Given the description of an element on the screen output the (x, y) to click on. 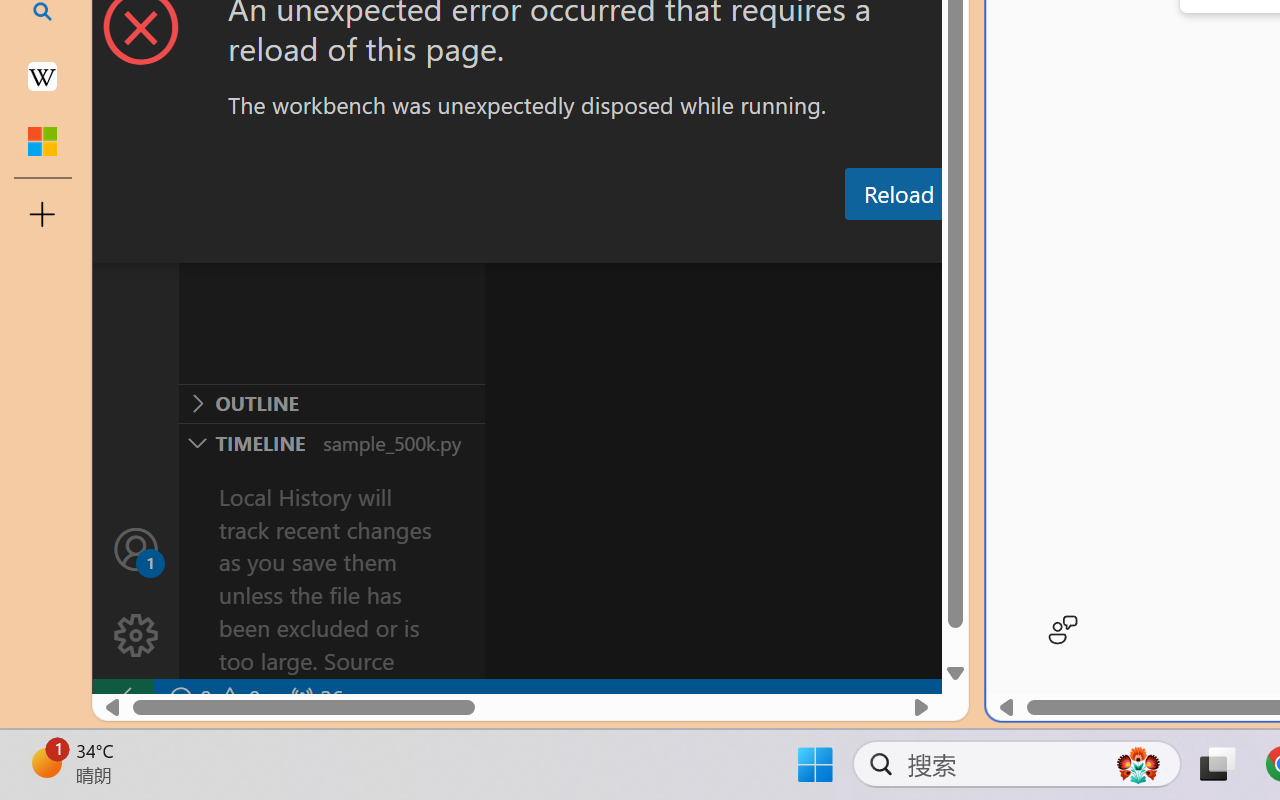
Output (Ctrl+Shift+U) (696, 243)
Manage (135, 635)
Debug Console (Ctrl+Shift+Y) (854, 243)
Earth - Wikipedia (42, 75)
No Problems (212, 698)
Manage (135, 591)
Problems (Ctrl+Shift+M) (567, 243)
Timeline Section (331, 442)
